Given the description of an element on the screen output the (x, y) to click on. 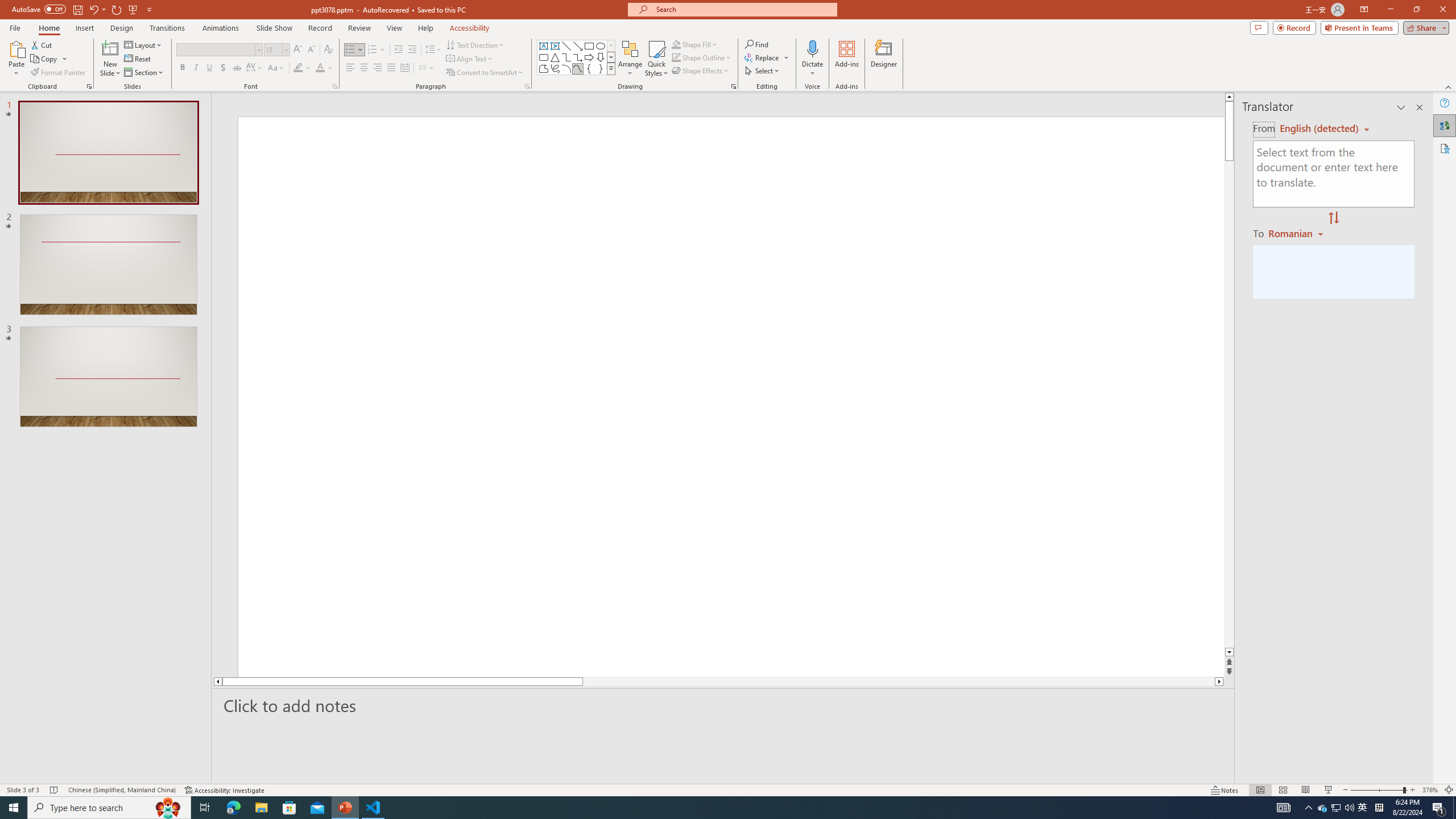
AutomationID: ShapesInsertGallery (576, 57)
Find... (756, 44)
Decrease Indent (398, 49)
Increase Indent (412, 49)
Bold (182, 67)
Office Clipboard... (88, 85)
Arrow: Right (589, 57)
Shape Effects (700, 69)
